Given the description of an element on the screen output the (x, y) to click on. 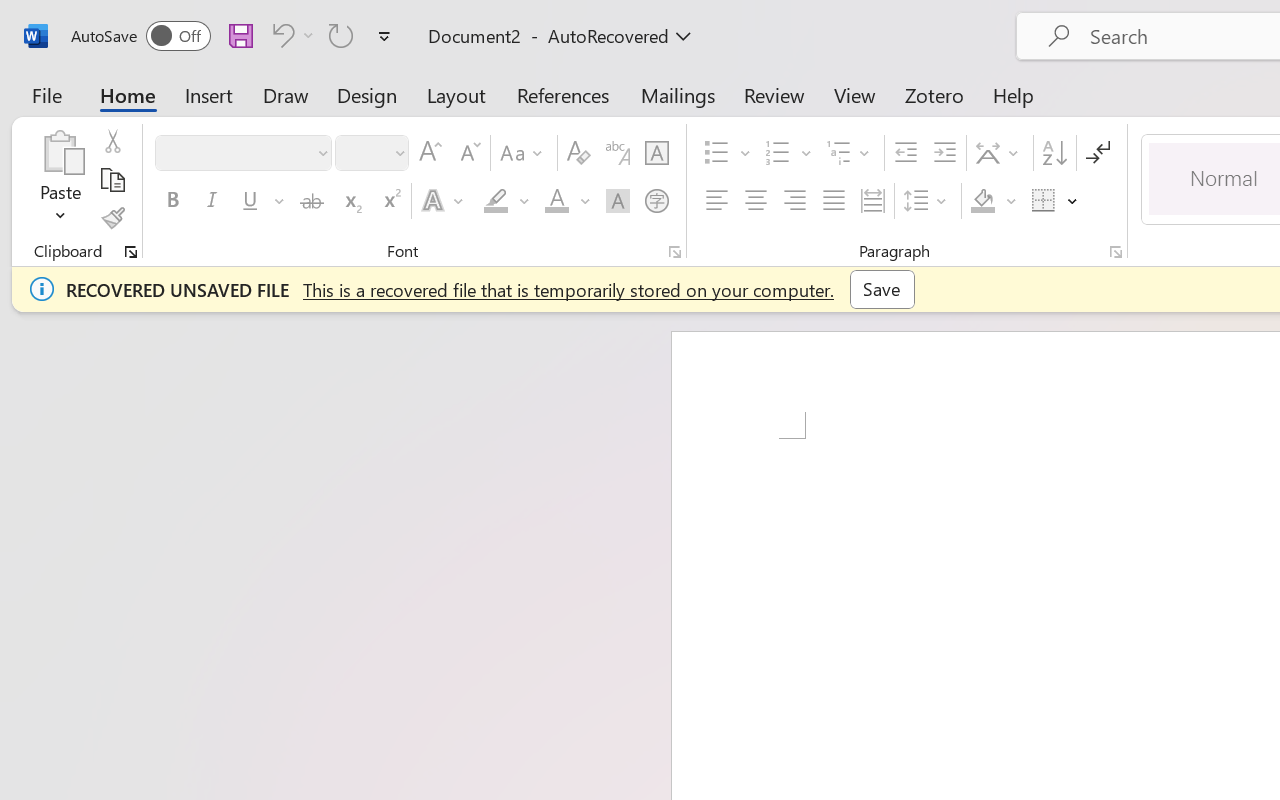
Grow Font (430, 153)
Shading RGB(0, 0, 0) (982, 201)
Help (1013, 94)
Shrink Font (468, 153)
Justify (834, 201)
Show/Hide Editing Marks (1098, 153)
Superscript (390, 201)
